Given the description of an element on the screen output the (x, y) to click on. 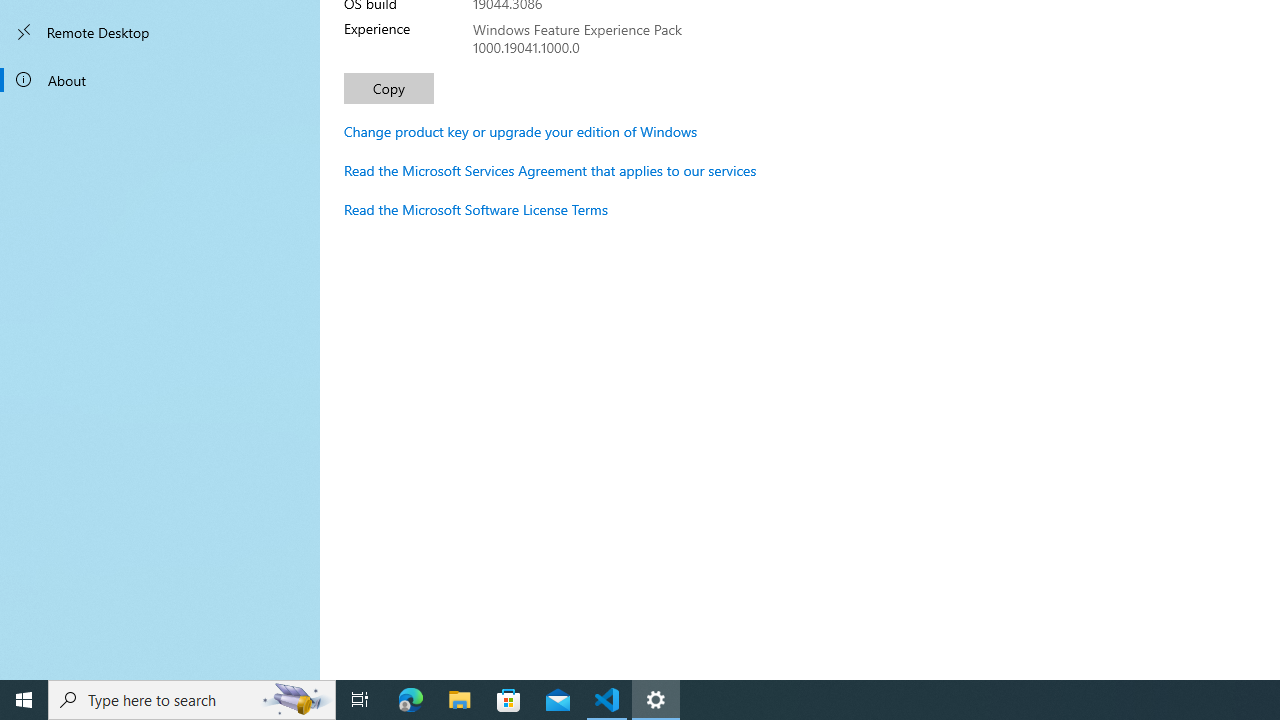
Change product key or upgrade your edition of Windows (520, 131)
